Given the description of an element on the screen output the (x, y) to click on. 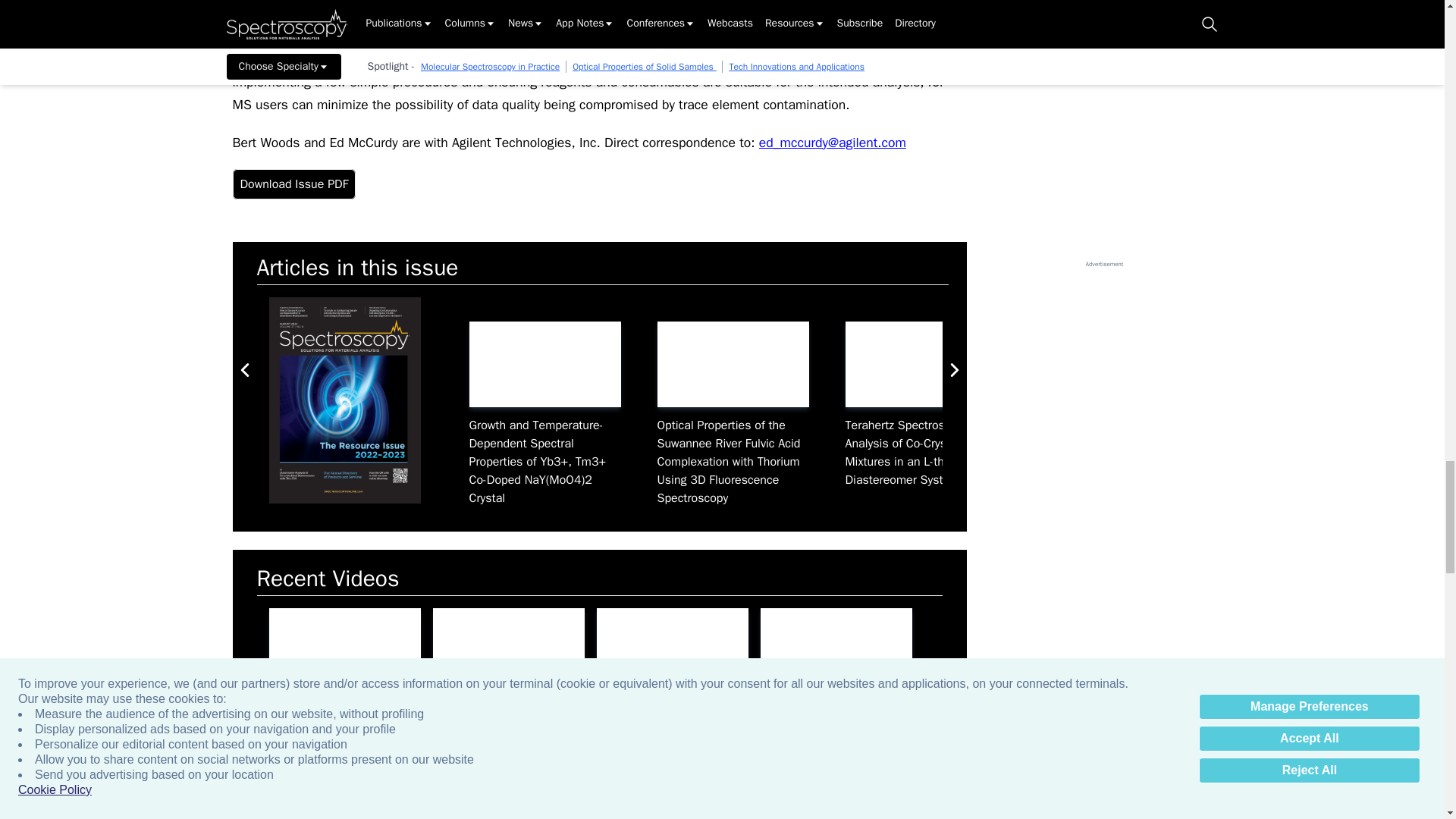
prisms reflecting spectral light (919, 364)
crystals sparkling against a black background (544, 364)
John Burgener of Burgener Research Inc. (835, 650)
Suwannee River with the sunrise (732, 364)
Key Steps to Follow in a FRET Experiment (1297, 364)
